Given the description of an element on the screen output the (x, y) to click on. 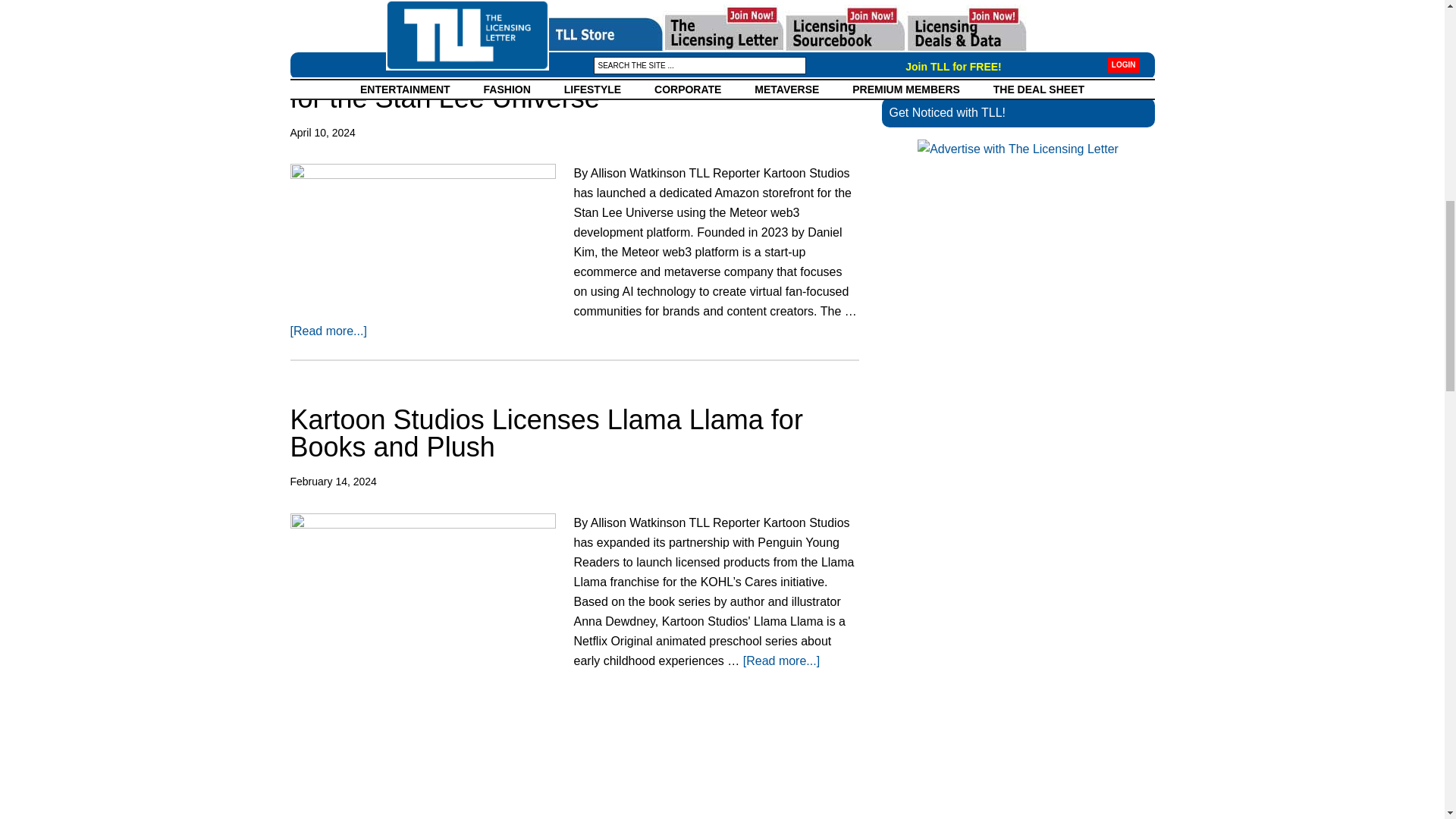
Kartoon Studios Licenses Llama Llama for Books and Plush (545, 433)
